Given the description of an element on the screen output the (x, y) to click on. 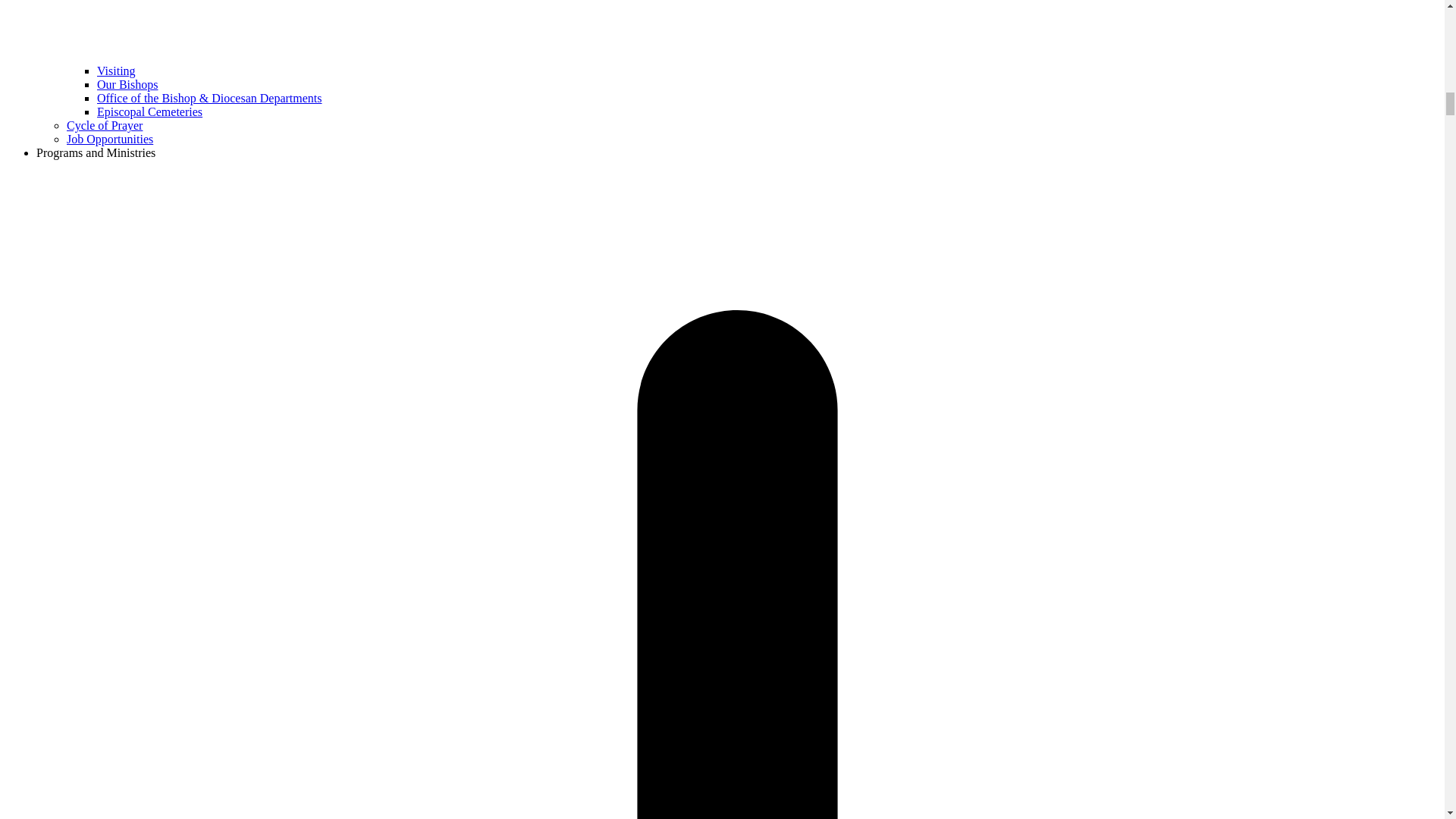
Episcopal Cemeteries (149, 111)
Visiting (116, 70)
Cycle of Prayer (104, 124)
Job Opportunities (109, 138)
Our Bishops (127, 83)
